Given the description of an element on the screen output the (x, y) to click on. 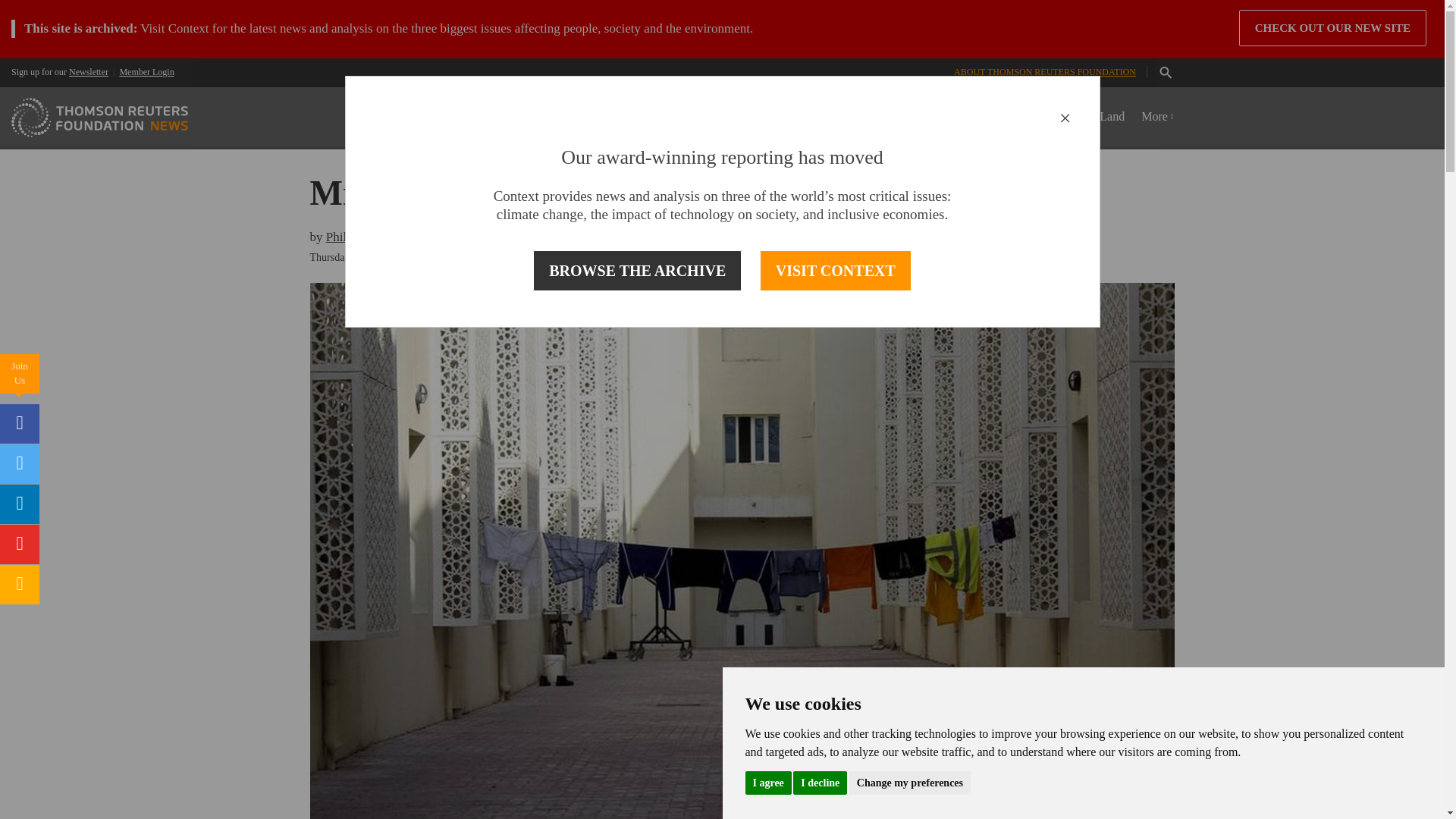
Land (1111, 117)
I decline (820, 781)
Slavery (1019, 117)
I agree (767, 781)
Climate (821, 117)
VISIT CONTEXT (835, 270)
Coronavirus (645, 117)
Context (188, 28)
Home (583, 117)
Technology (955, 117)
